Given the description of an element on the screen output the (x, y) to click on. 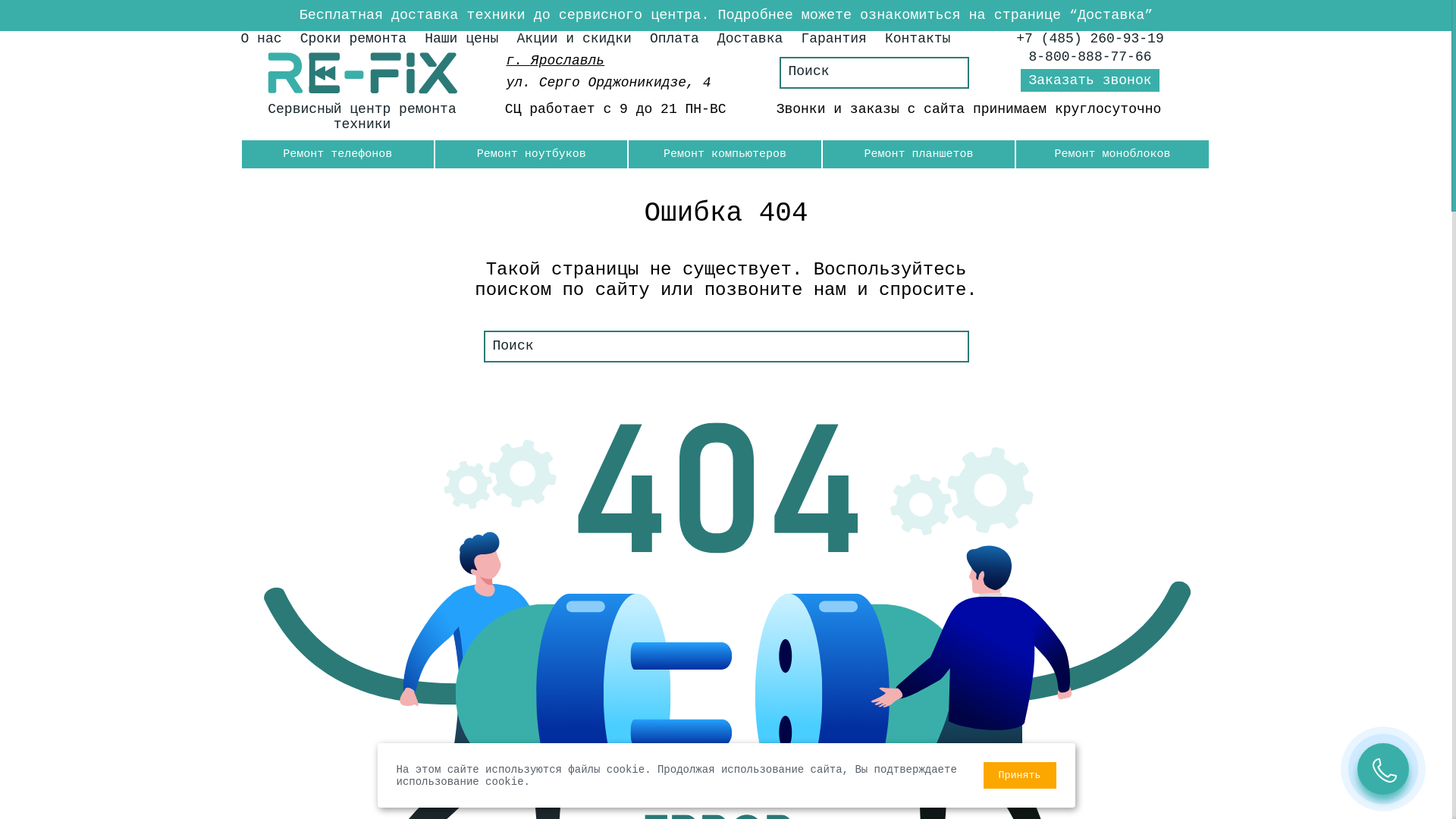
8-800-888-77-66 Element type: text (1090, 56)
+7 (485) 260-93-19 Element type: text (1089, 38)
